Given the description of an element on the screen output the (x, y) to click on. 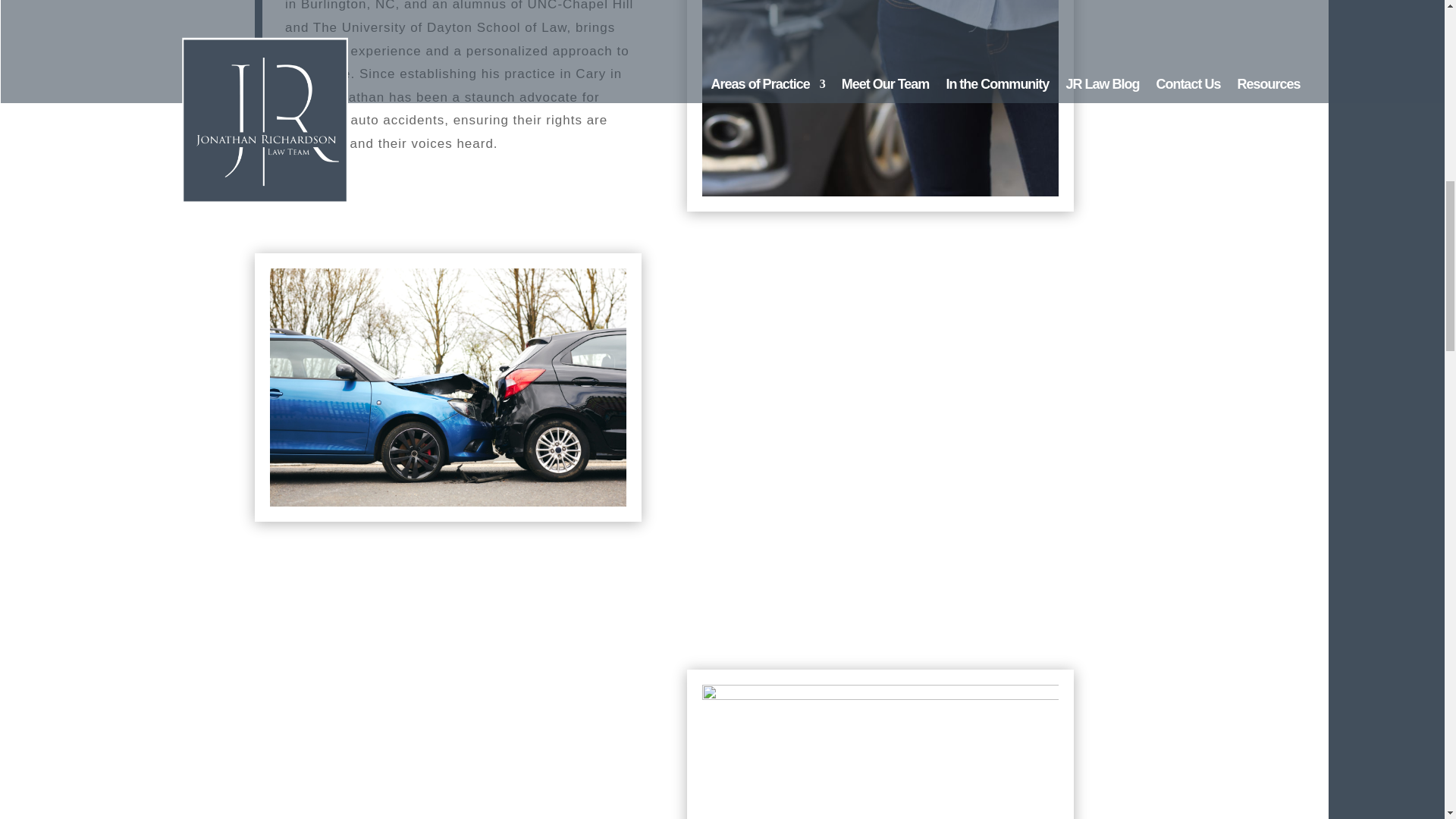
Untitled design - 2024-02-14T174649.541 (879, 751)
Untitled design - 2024-02-14T174450.554 (879, 98)
Untitled design - 2024-02-14T174551.669 (447, 387)
